Given the description of an element on the screen output the (x, y) to click on. 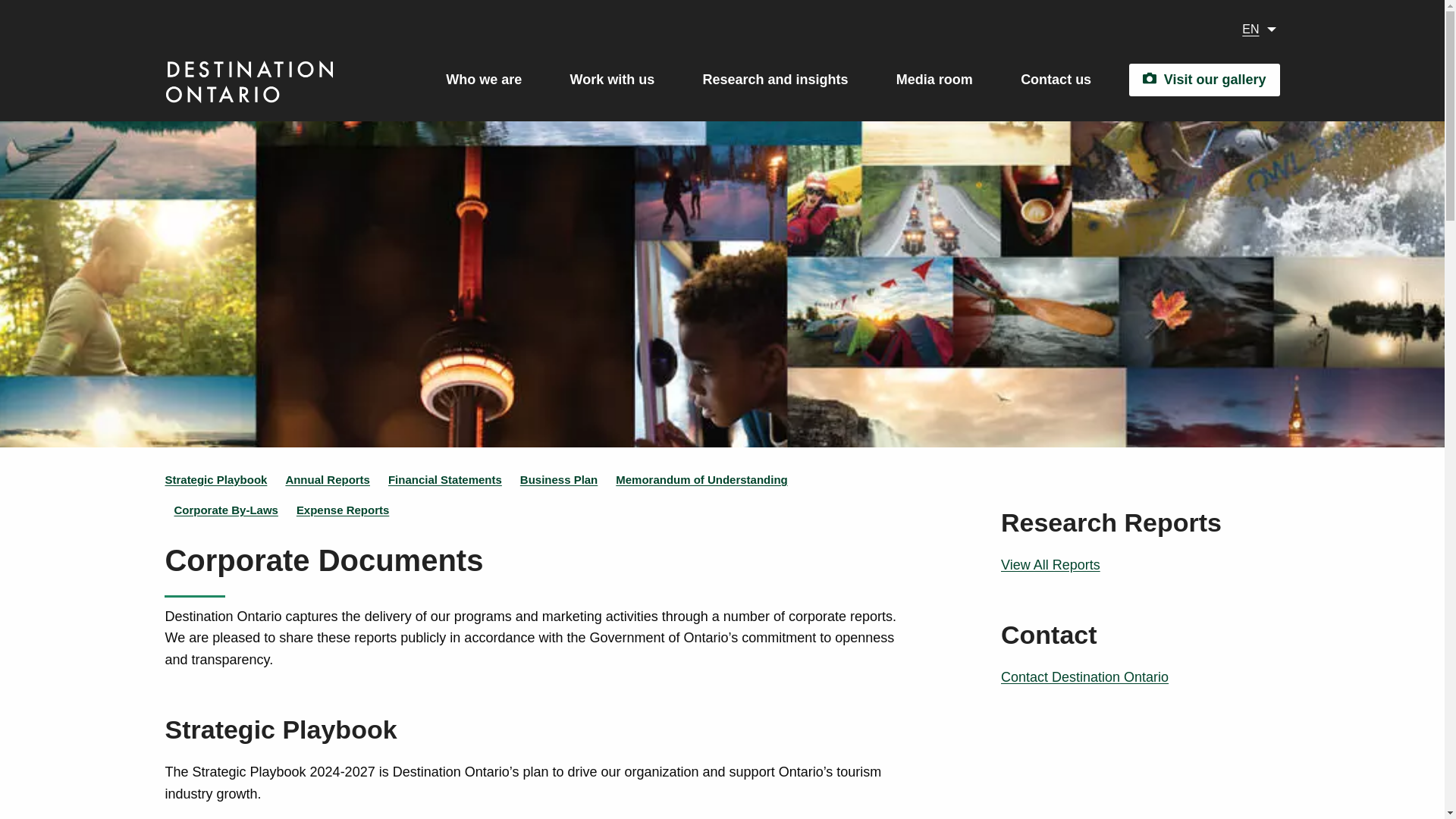
Strategic Playbook (215, 479)
Media room (934, 79)
Annual Reports (327, 479)
Work with us (612, 79)
Financial Statements (445, 479)
Who we are (483, 79)
Research and insights (775, 79)
Memorandum of Understanding (701, 479)
Business Plan (557, 479)
Expense Reports (342, 509)
Visit our gallery (1204, 79)
Corporate By-Laws (225, 509)
EN (1253, 29)
Contact us (1055, 79)
